Given the description of an element on the screen output the (x, y) to click on. 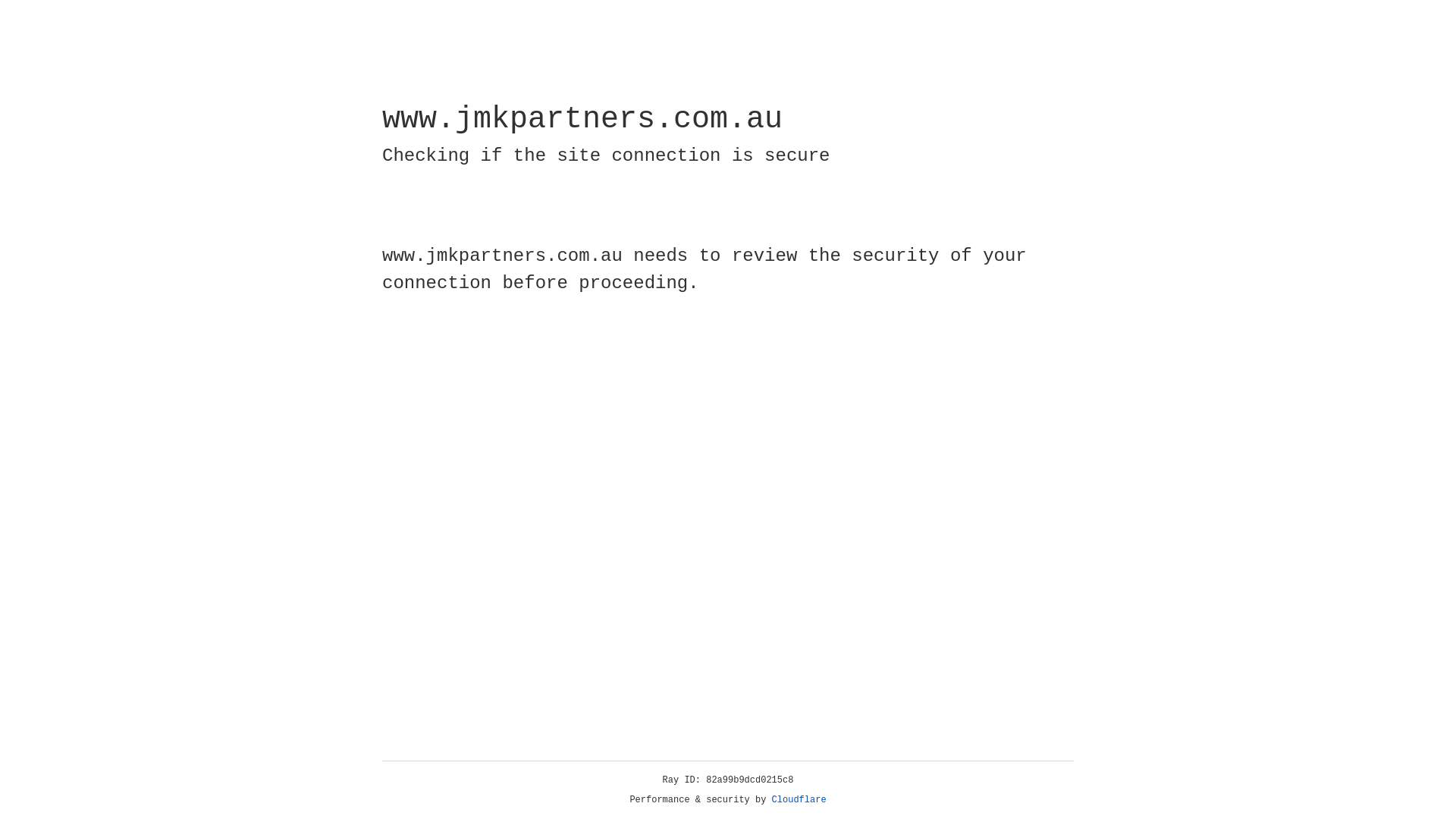
Cloudflare Element type: text (798, 799)
